Given the description of an element on the screen output the (x, y) to click on. 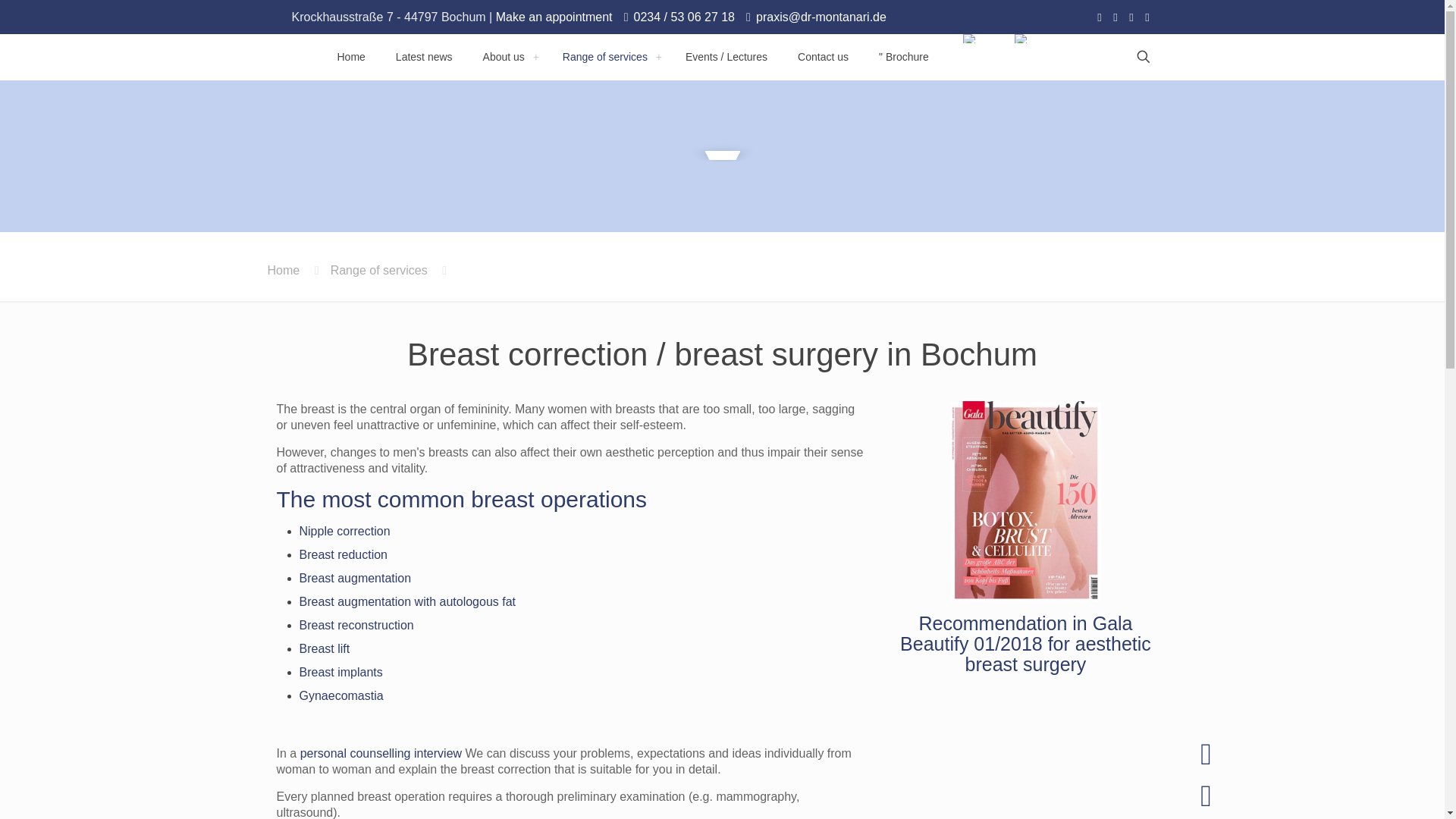
Latest news (423, 56)
Range of services (608, 56)
Personal counselling interview (380, 753)
Deutsch (969, 38)
About us (507, 56)
Make an appointment (554, 16)
Home (350, 56)
